Given the description of an element on the screen output the (x, y) to click on. 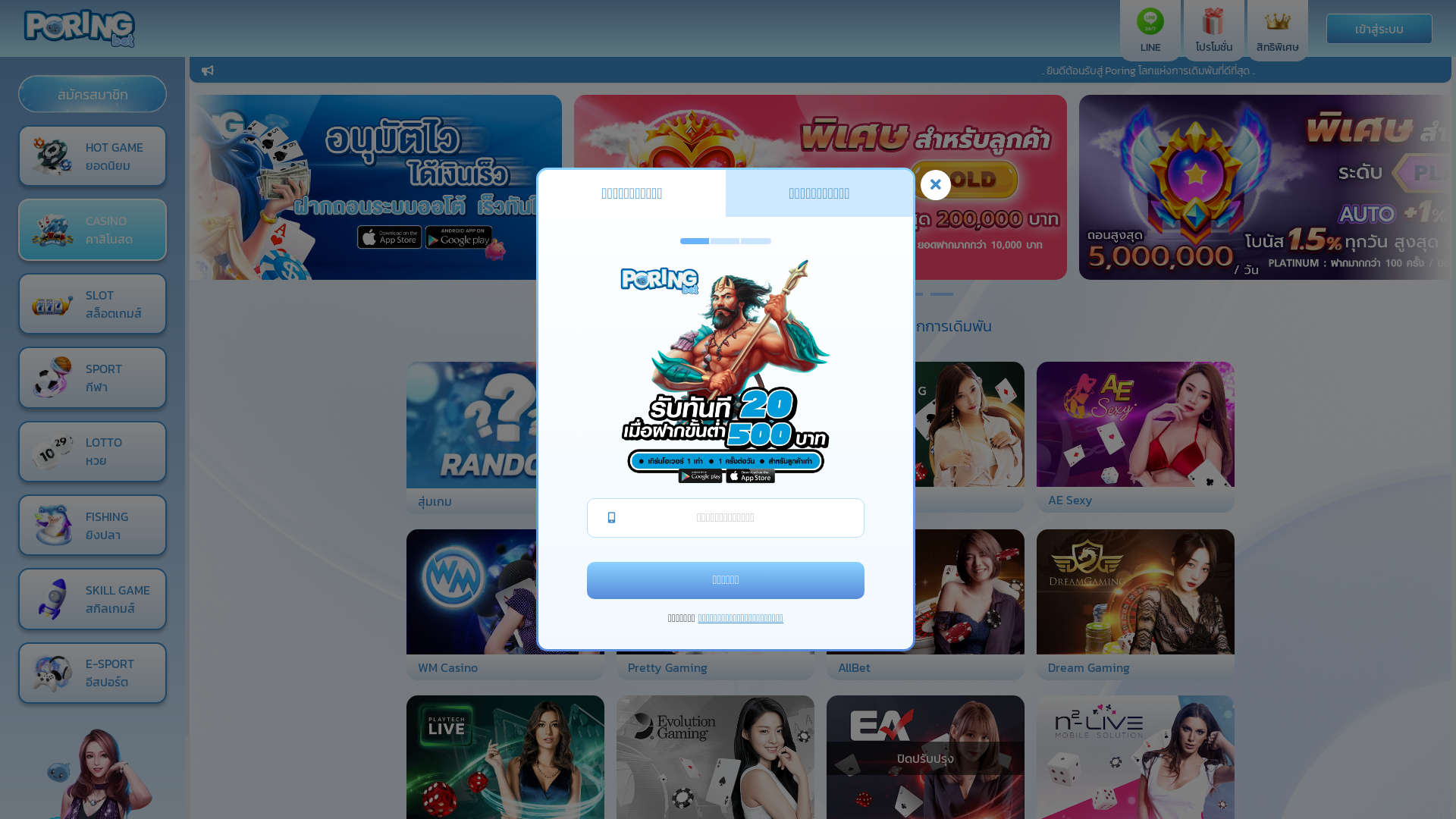
9 Element type: text (941, 293)
1 Element type: text (698, 293)
5 Element type: text (820, 293)
3 Element type: text (759, 293)
6 Element type: text (850, 293)
7 Element type: text (880, 293)
8 Element type: text (911, 293)
2 Element type: text (729, 293)
4 Element type: text (789, 293)
